Given the description of an element on the screen output the (x, y) to click on. 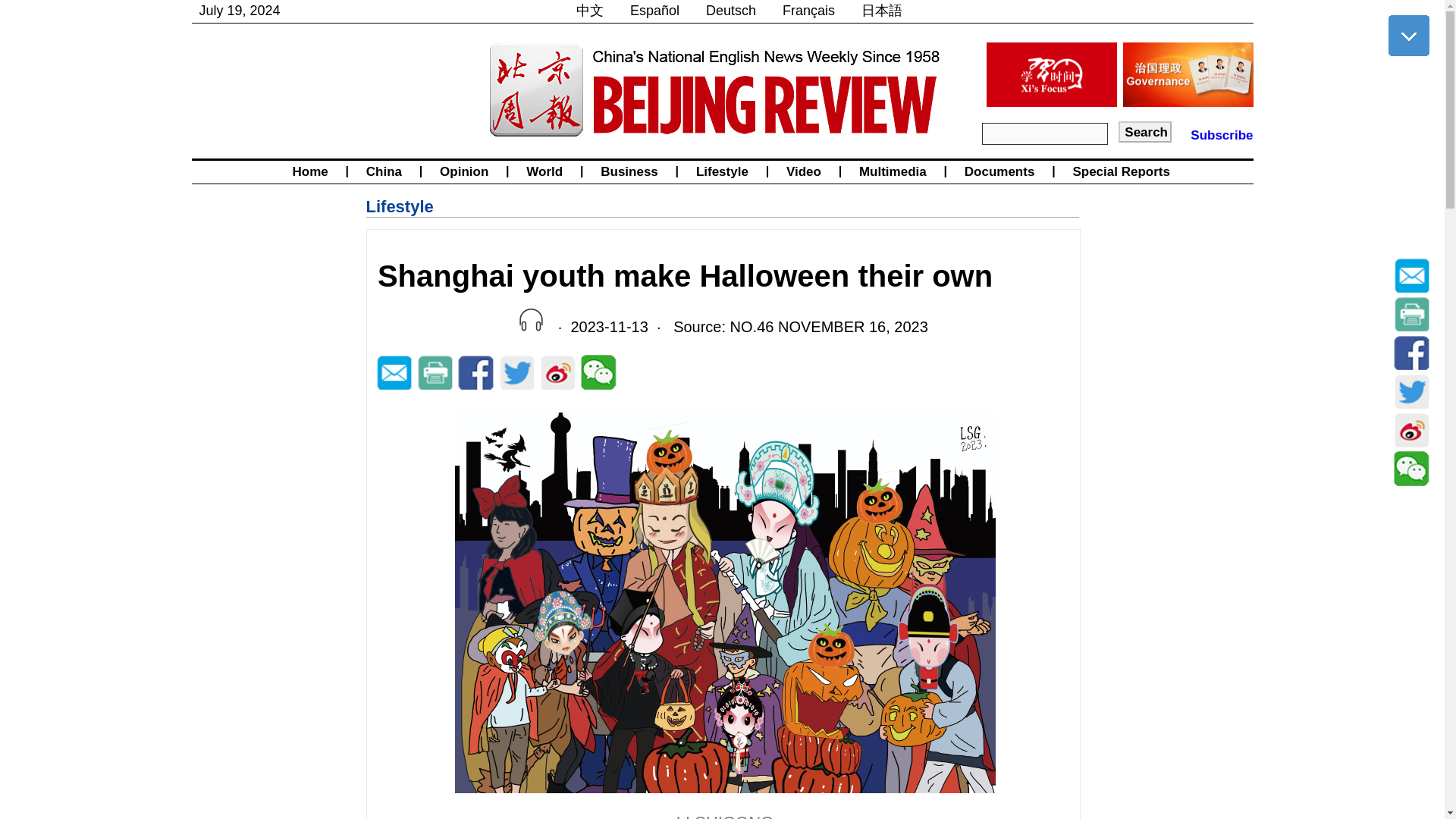
Search (1145, 131)
China (384, 171)
Video (804, 171)
World (544, 171)
Subscribe (1221, 134)
Search (1145, 131)
Deutsch (730, 10)
Business (629, 171)
Lifestyle (398, 206)
Home (309, 171)
Lifestyle (722, 171)
Opinion (463, 171)
